Given the description of an element on the screen output the (x, y) to click on. 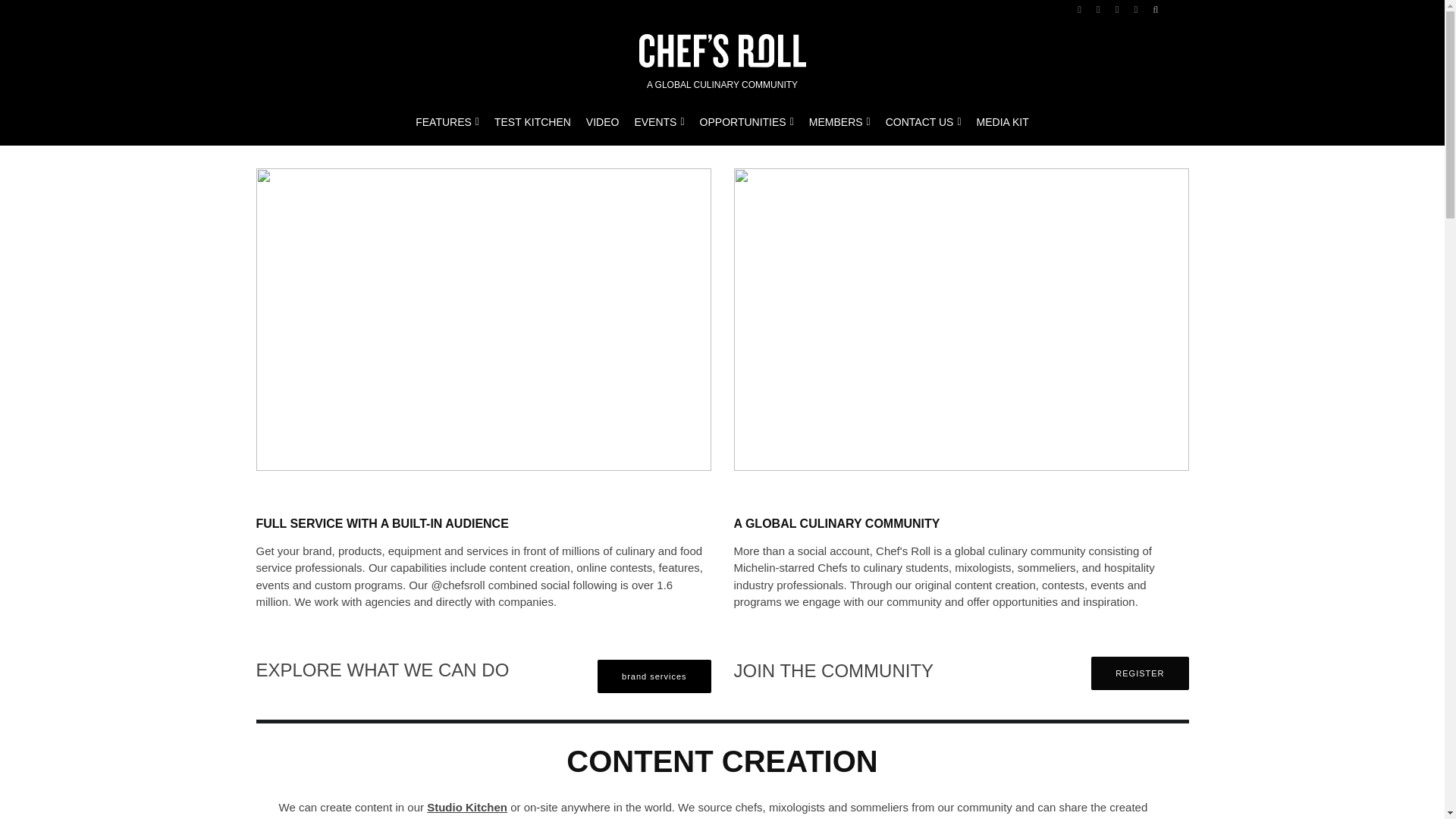
TEST KITCHEN (532, 118)
FEATURES (446, 118)
A GLOBAL CULINARY COMMUNITY (722, 60)
